Given the description of an element on the screen output the (x, y) to click on. 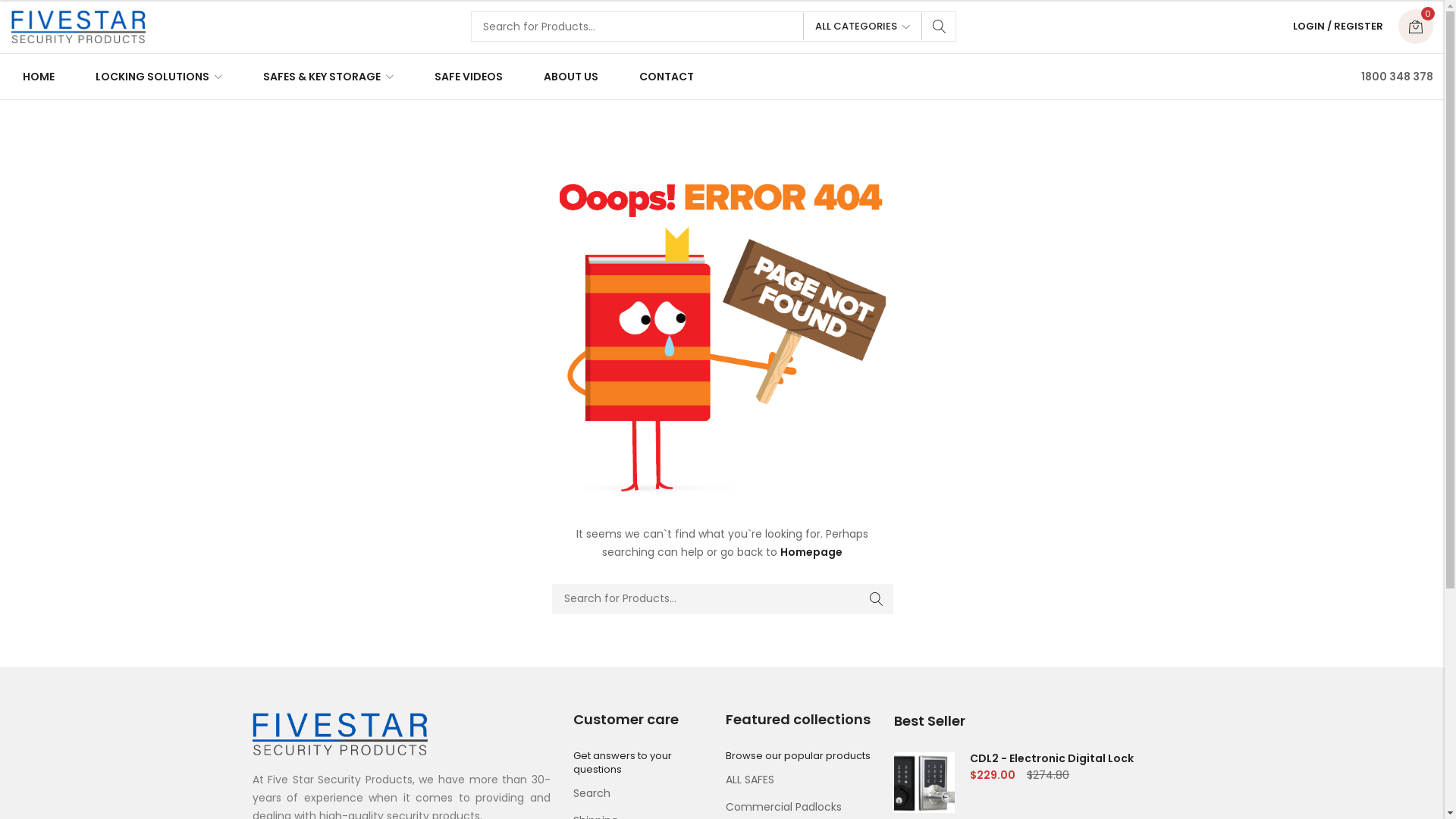
Login Element type: text (1260, 192)
Search Element type: text (939, 26)
Homepage Element type: text (811, 551)
Search Element type: text (876, 598)
CONTACT Element type: text (662, 76)
SAFES & KEY STORAGE Element type: text (328, 76)
HOME Element type: text (42, 76)
LOCKING SOLUTIONS Element type: text (158, 76)
ALL CATEGORIES Element type: text (862, 26)
ABOUT US Element type: text (570, 76)
0 Element type: text (1415, 26)
Login Element type: text (1260, 249)
SAFE VIDEOS Element type: text (468, 76)
Search Element type: text (645, 793)
LOGIN / REGISTER Element type: text (1337, 26)
CDL2 - Electronic Digital Lock Element type: text (1043, 758)
ALL SAFES Element type: text (798, 779)
